Given the description of an element on the screen output the (x, y) to click on. 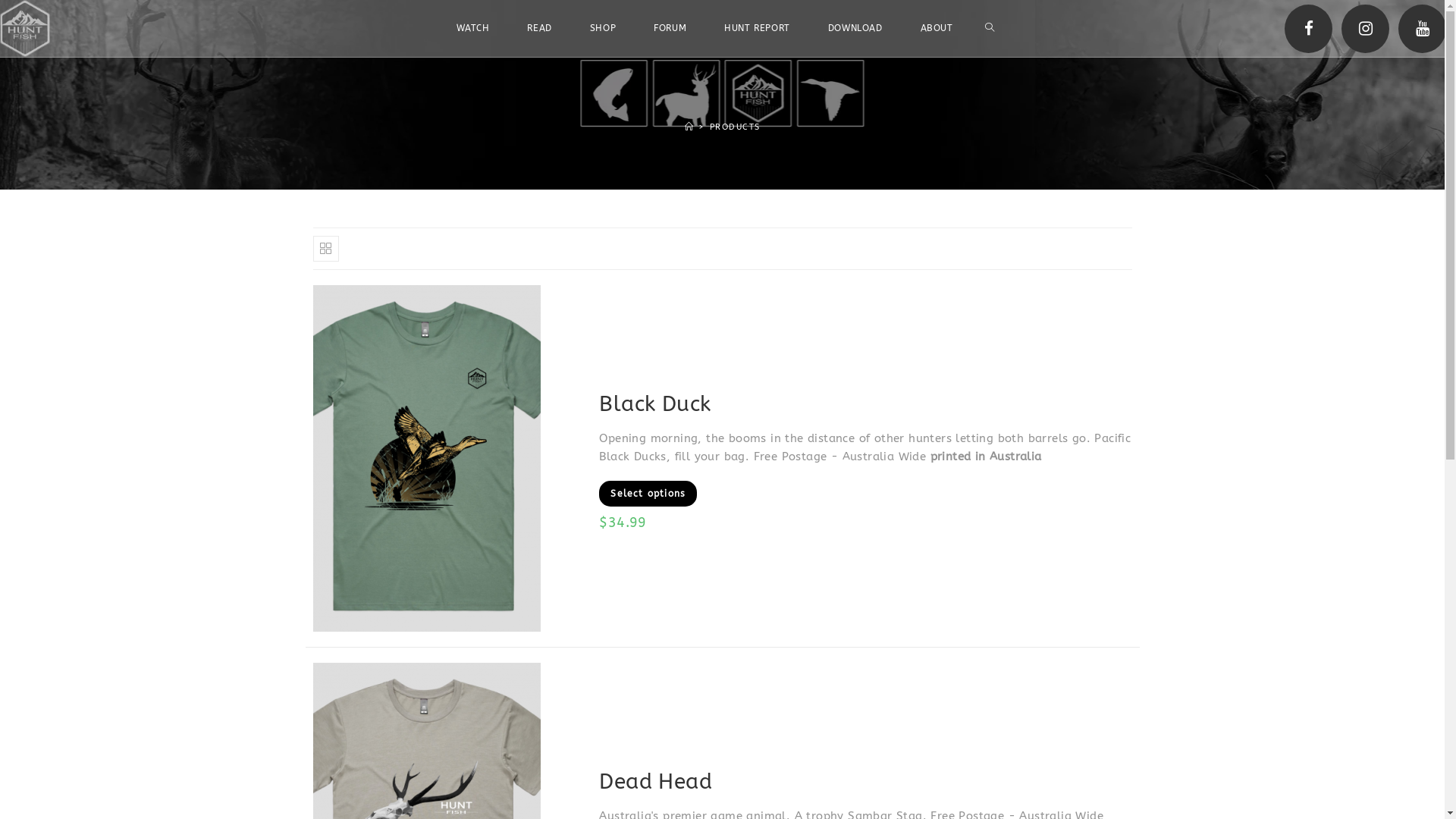
Dead Head Element type: text (655, 781)
PRODUCTS Element type: text (734, 126)
Grid view Element type: hover (325, 248)
DOWNLOAD Element type: text (855, 28)
Black Duck Element type: text (654, 404)
HUNT REPORT Element type: text (757, 28)
SHOP Element type: text (602, 28)
WATCH Element type: text (472, 28)
Select options Element type: text (647, 493)
ABOUT Element type: text (936, 28)
List view Element type: hover (358, 248)
READ Element type: text (539, 28)
FORUM Element type: text (669, 28)
